Given the description of an element on the screen output the (x, y) to click on. 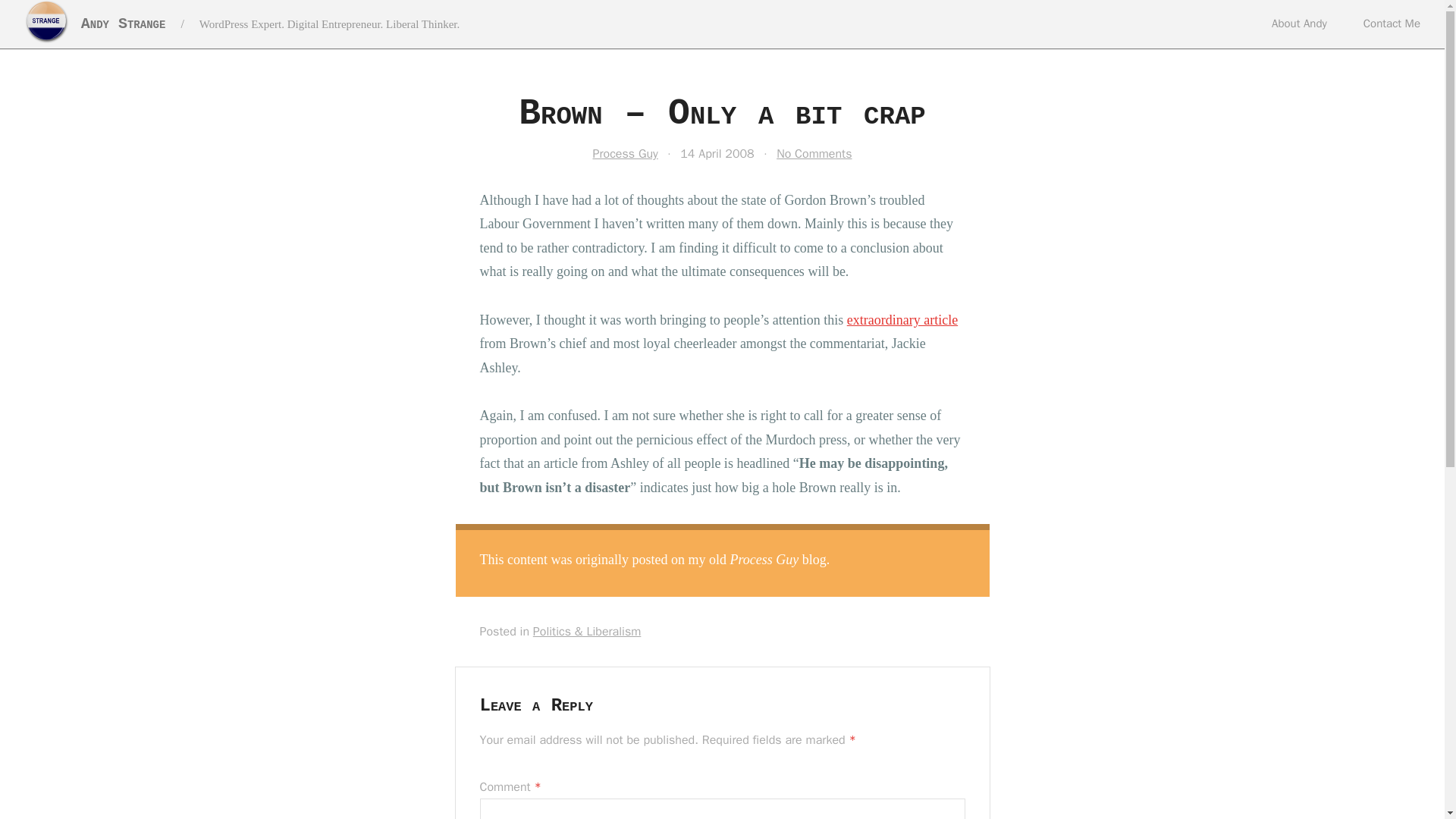
extraordinary article (902, 319)
Process Guy (625, 153)
Contact Me (1391, 24)
About Andy (1299, 24)
No Comments (813, 153)
Andy Strange (123, 23)
